Given the description of an element on the screen output the (x, y) to click on. 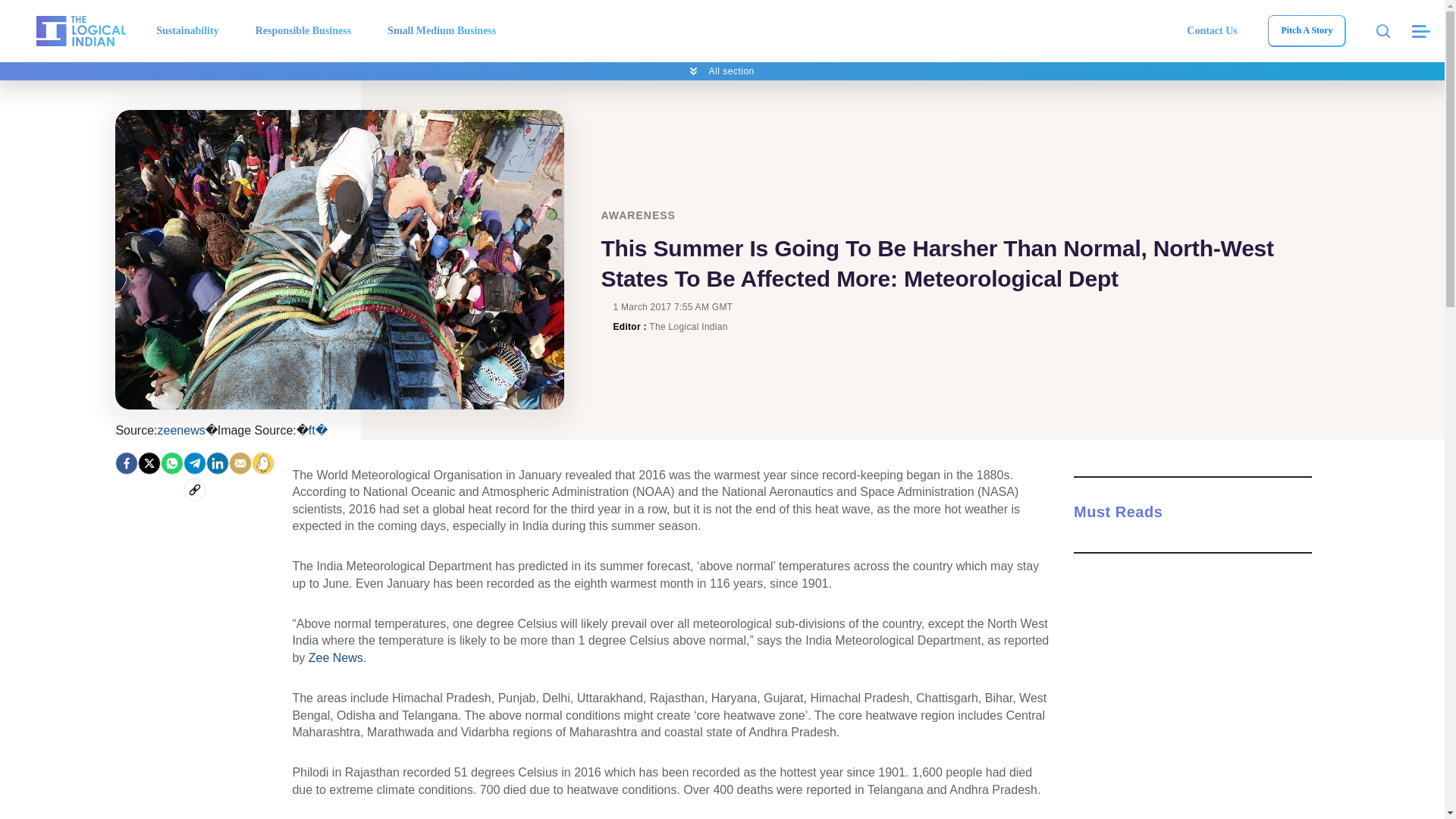
Sustainability (186, 30)
Share by Email (239, 463)
Pitch A Story (1305, 30)
The Logical Indian (80, 30)
LinkedIn (217, 463)
Contact Us (1212, 30)
Small Medium Business (441, 30)
Responsible Business (303, 30)
